Given the description of an element on the screen output the (x, y) to click on. 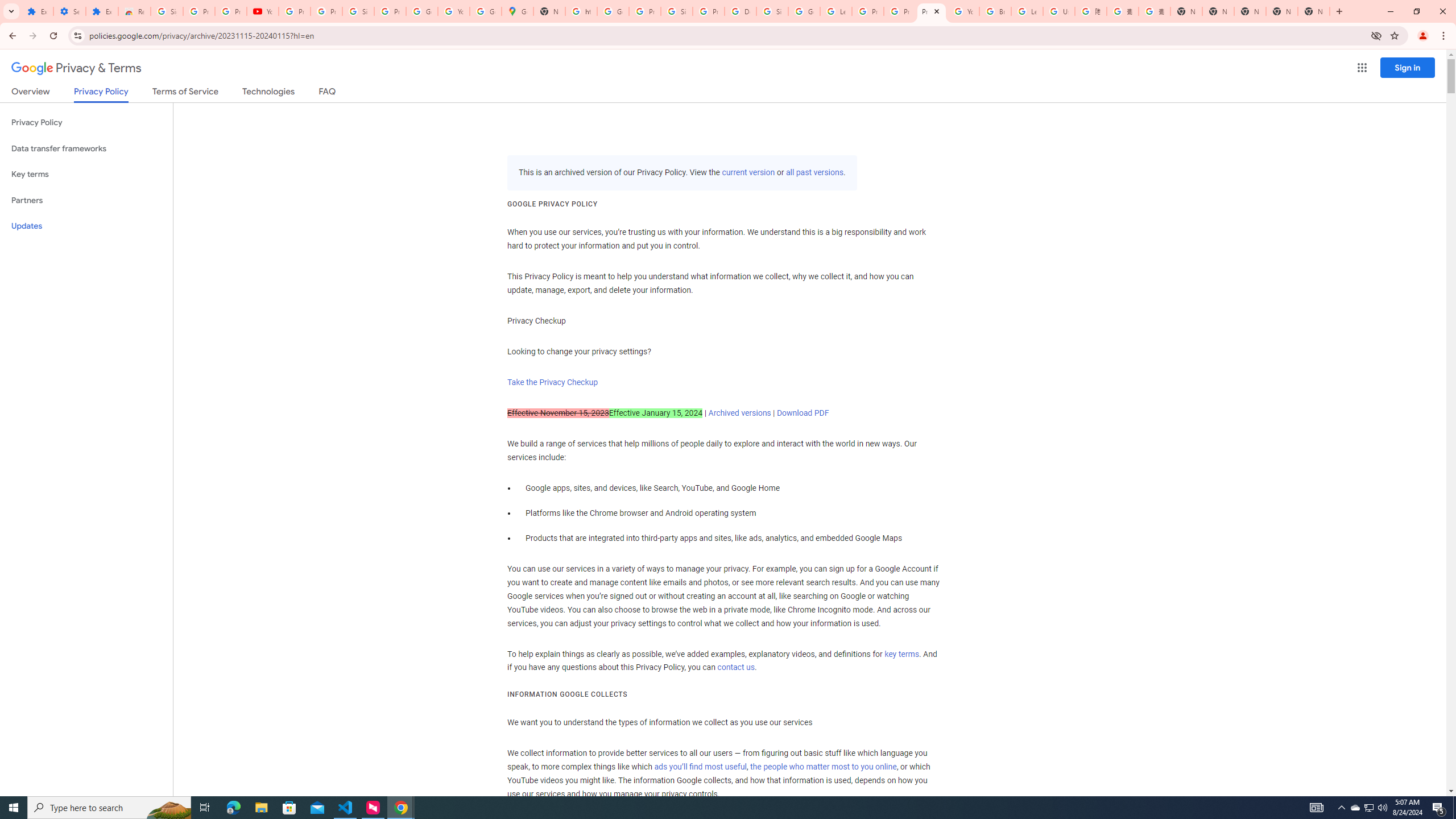
Reviews: Helix Fruit Jump Arcade Game (134, 11)
contact us (735, 667)
Delete specific Google services or your Google Account (740, 11)
